Given the description of an element on the screen output the (x, y) to click on. 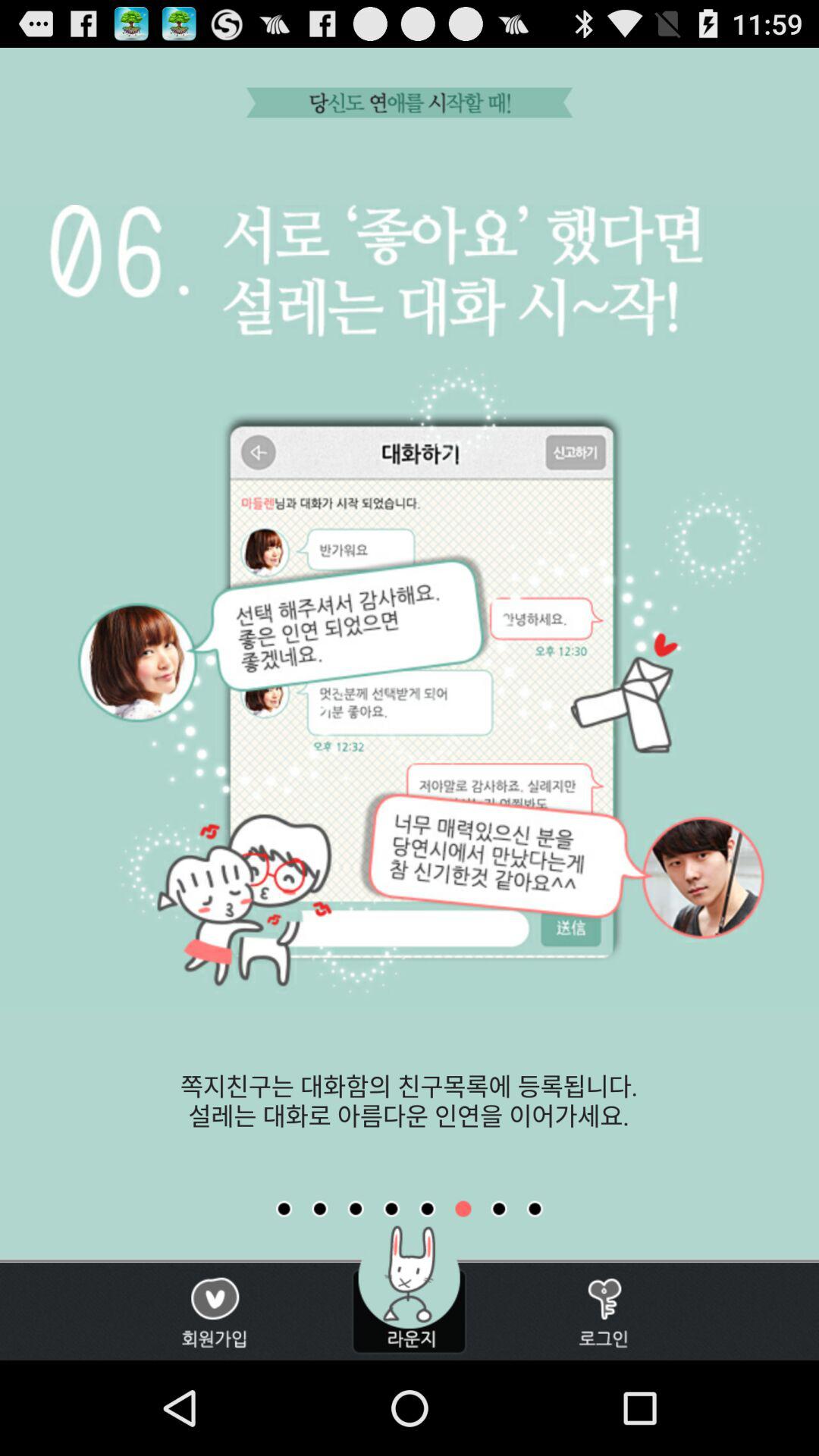
go to page 2 (319, 1208)
